Given the description of an element on the screen output the (x, y) to click on. 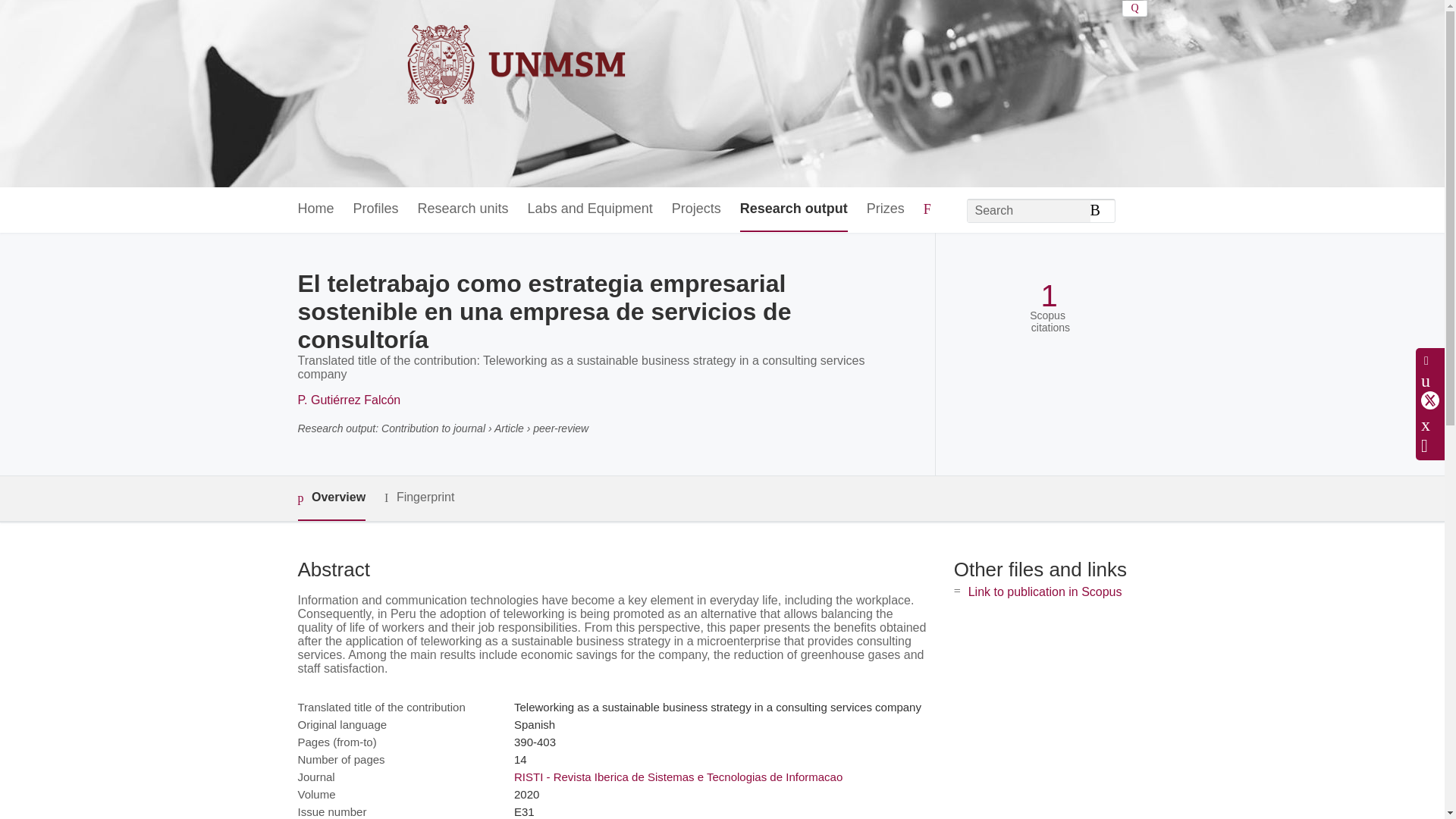
Research output (793, 209)
Fingerprint (419, 497)
Labs and Equipment (589, 209)
Projects (695, 209)
Profiles (375, 209)
Link to publication in Scopus (1045, 591)
Research units (462, 209)
Overview (331, 497)
